Given the description of an element on the screen output the (x, y) to click on. 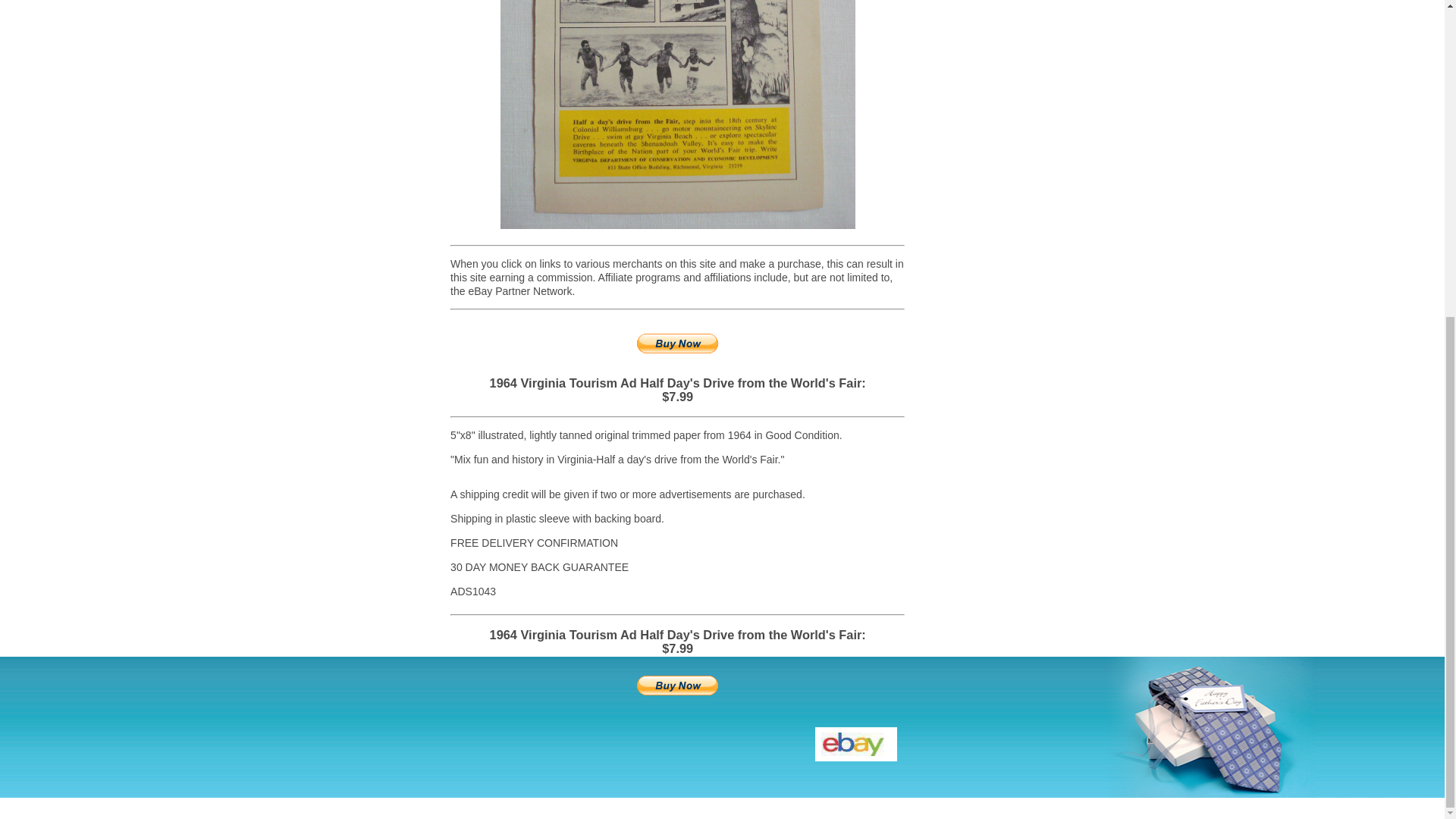
Buy Now (676, 343)
Buy Now (676, 685)
